Given the description of an element on the screen output the (x, y) to click on. 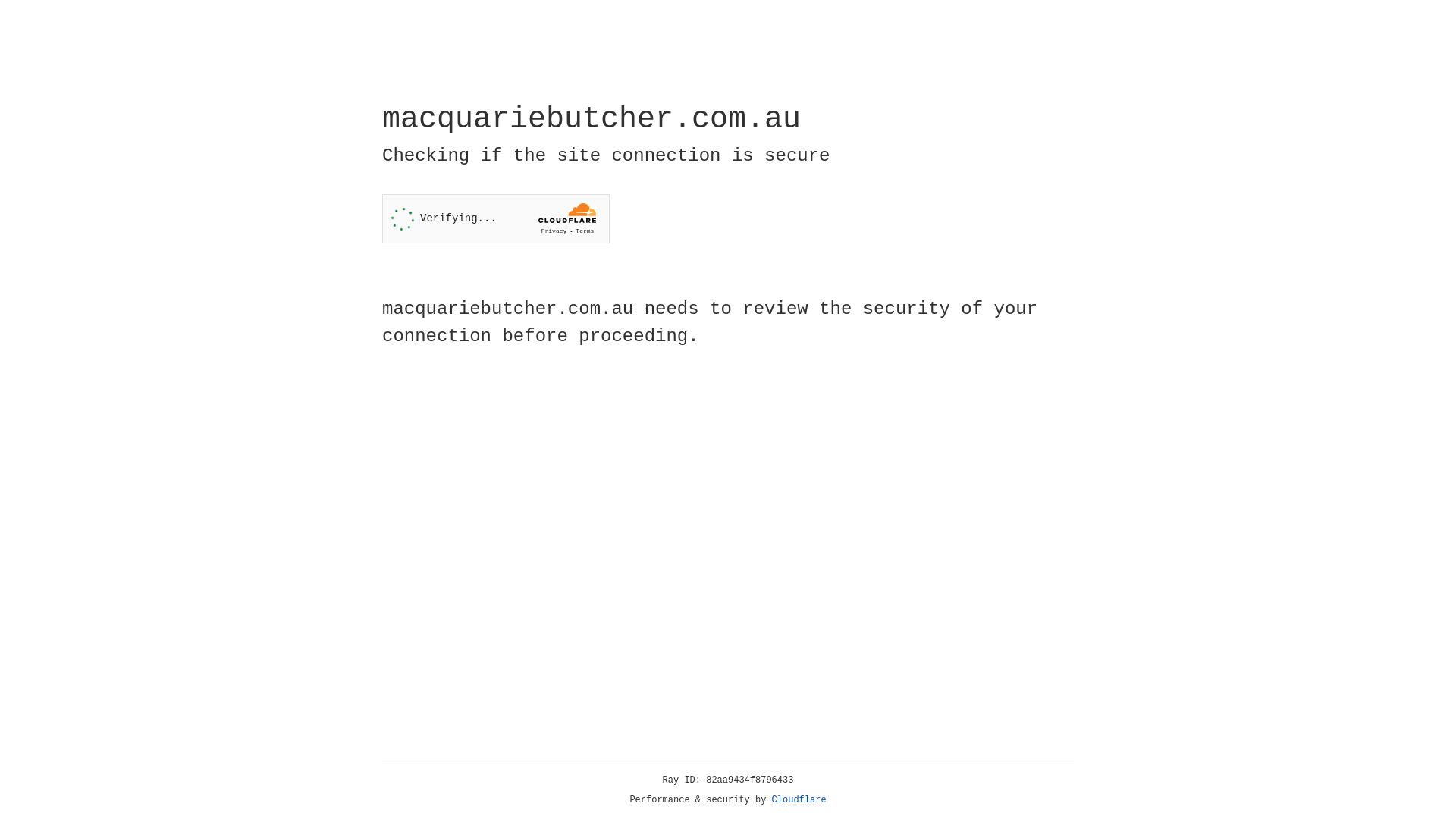
Cloudflare Element type: text (798, 799)
Widget containing a Cloudflare security challenge Element type: hover (495, 218)
